Given the description of an element on the screen output the (x, y) to click on. 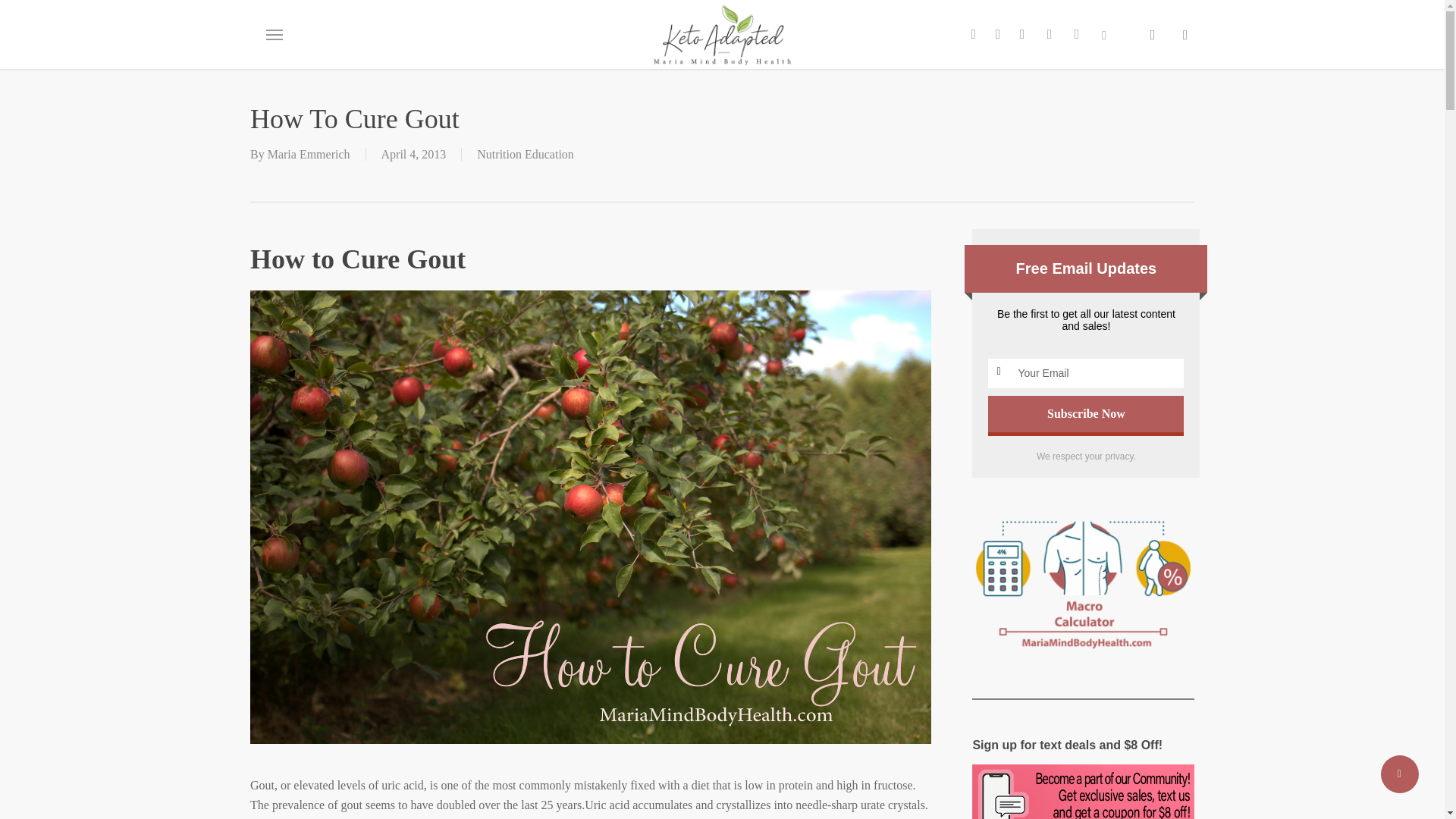
tiktok (1104, 33)
Subscribe Now (1085, 413)
account (1184, 34)
Posts by Maria Emmerich (308, 154)
twitter (973, 33)
facebook (998, 33)
search (1151, 34)
Nutrition Education (525, 154)
Maria Emmerich (308, 154)
youtube (1048, 33)
